Given the description of an element on the screen output the (x, y) to click on. 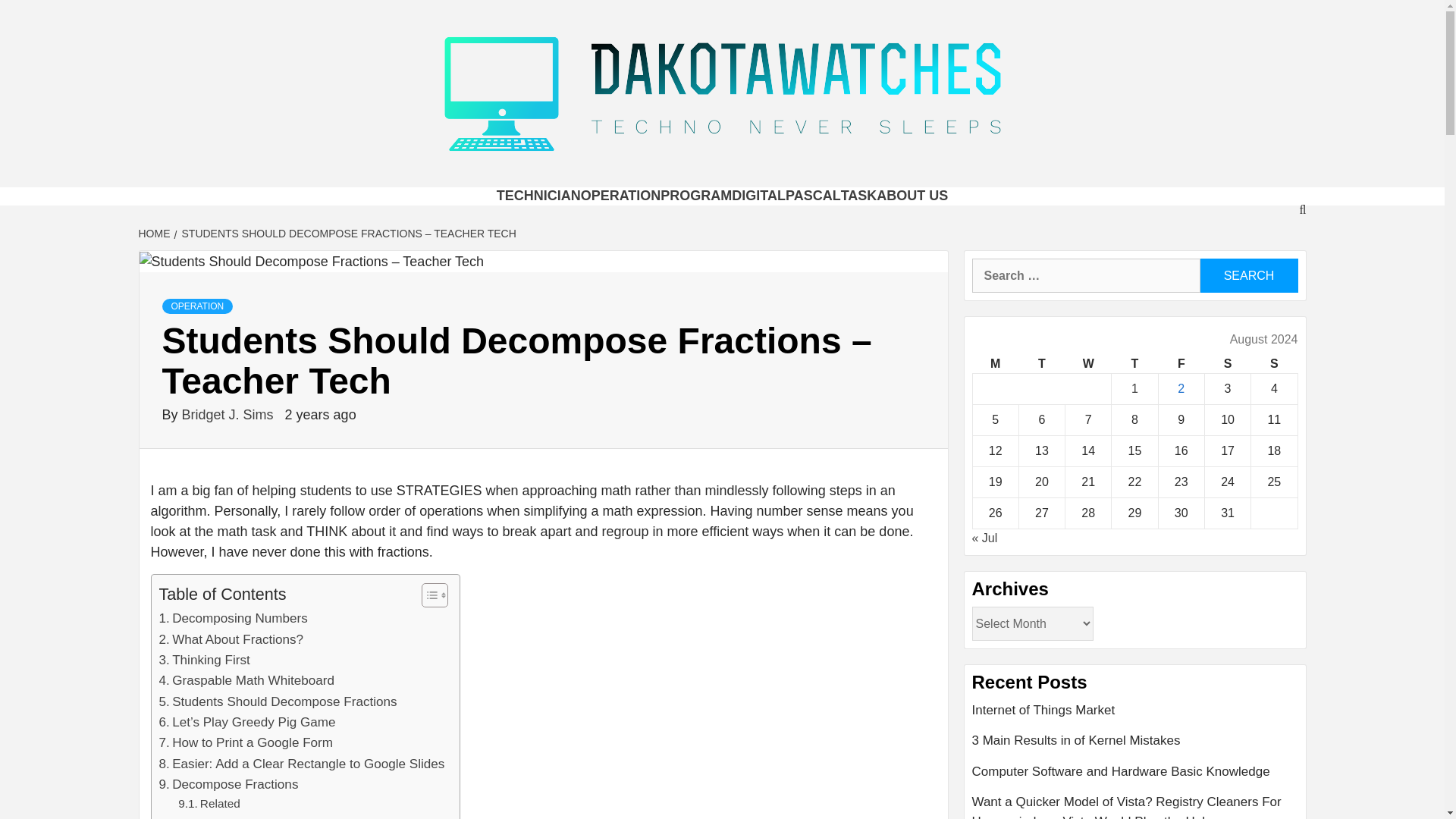
Decomposing Numbers (232, 618)
Bridget J. Sims (230, 414)
Easier: Add a Clear Rectangle to Google Slides (301, 763)
Easier: Add a Clear Rectangle to Google Slides (301, 763)
ABOUT US (911, 195)
OPERATION (196, 305)
Related (208, 804)
What About Fractions? (231, 639)
TASK (859, 195)
Related (208, 804)
How to Print a Google Form (245, 742)
HOME (155, 233)
DAKOTAWATCHES (485, 192)
Thinking First (204, 660)
TECHNICIAN (538, 195)
